Given the description of an element on the screen output the (x, y) to click on. 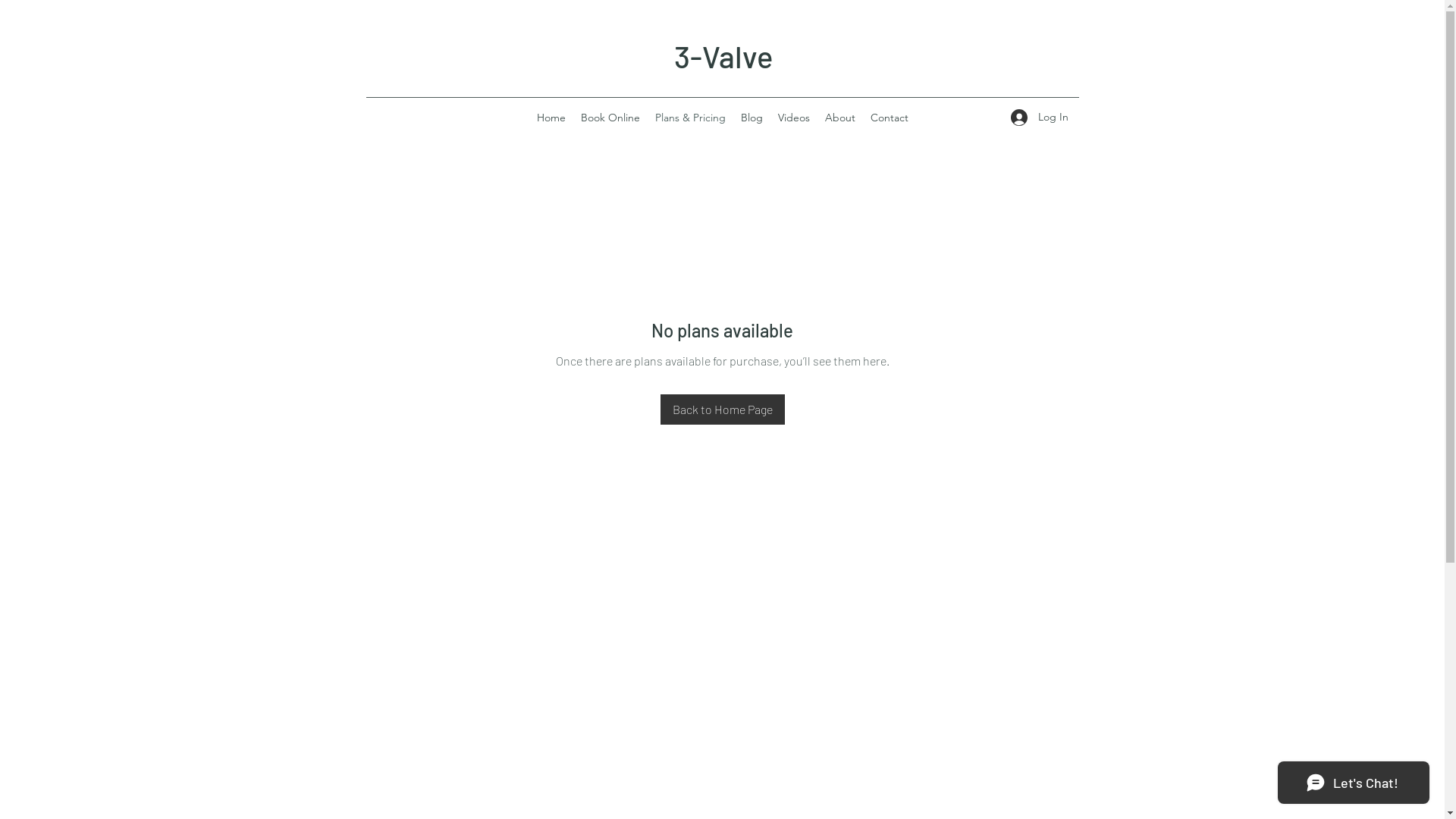
About Element type: text (839, 117)
Book Online Element type: text (610, 117)
Contact Element type: text (889, 117)
3-Valve Element type: text (722, 55)
Home Element type: text (551, 117)
Videos Element type: text (793, 117)
Back to Home Page Element type: text (721, 409)
Blog Element type: text (750, 117)
Plans & Pricing Element type: text (690, 117)
Log In Element type: text (1038, 117)
